Given the description of an element on the screen output the (x, y) to click on. 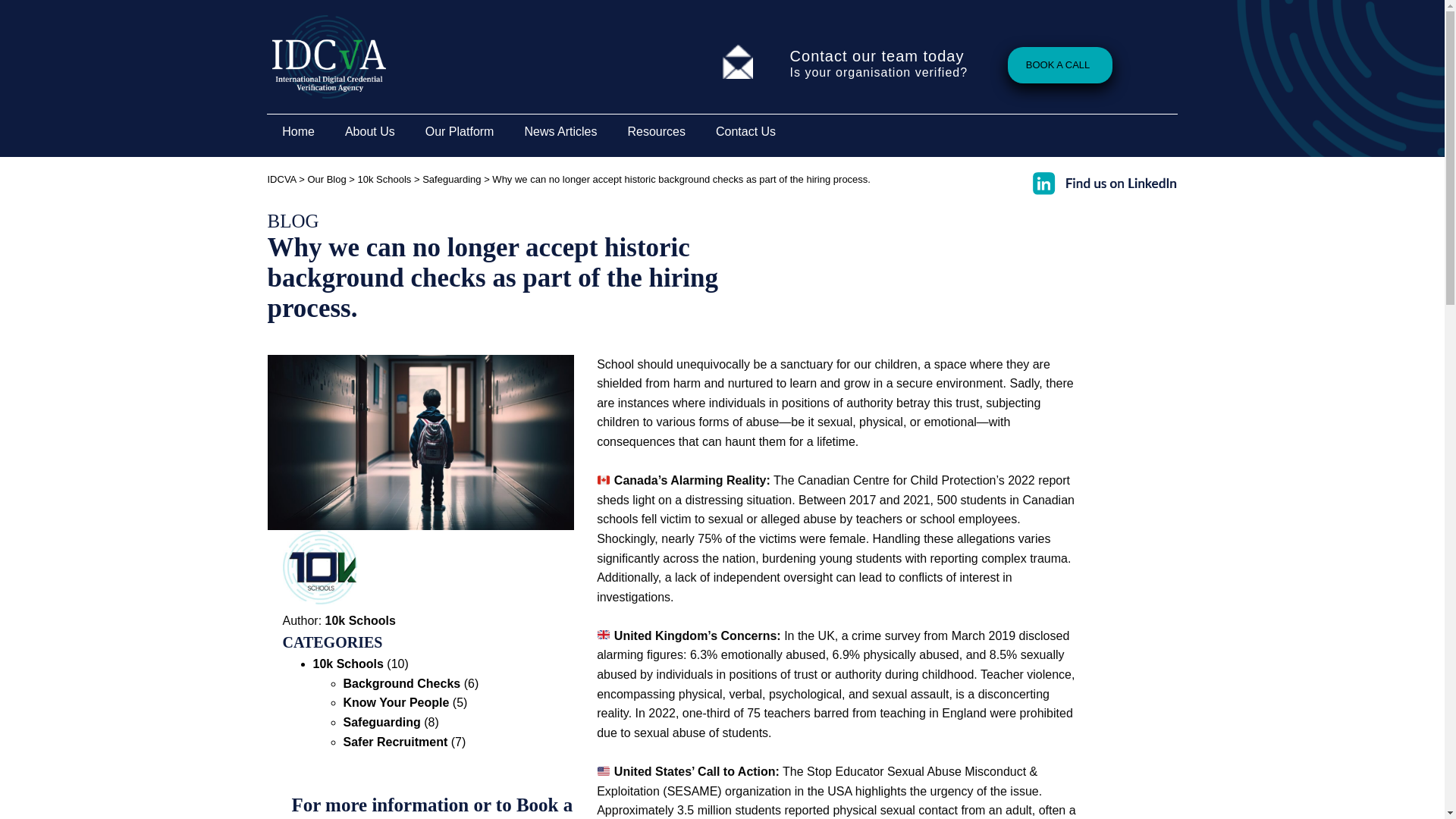
Our Platform (459, 131)
Safeguarding (381, 721)
find-us-on-linkedin (1104, 182)
Go to Our Blog. (326, 179)
Go to the Safeguarding Category archives. (451, 179)
IDCVA (280, 179)
10k Schools (385, 179)
Home (298, 131)
Safer Recruitment (394, 741)
Safeguarding (451, 179)
About Us (370, 131)
Go to the 10k Schools Category archives. (385, 179)
Contact Us (745, 131)
Background Checks (401, 683)
News Articles (559, 131)
